Given the description of an element on the screen output the (x, y) to click on. 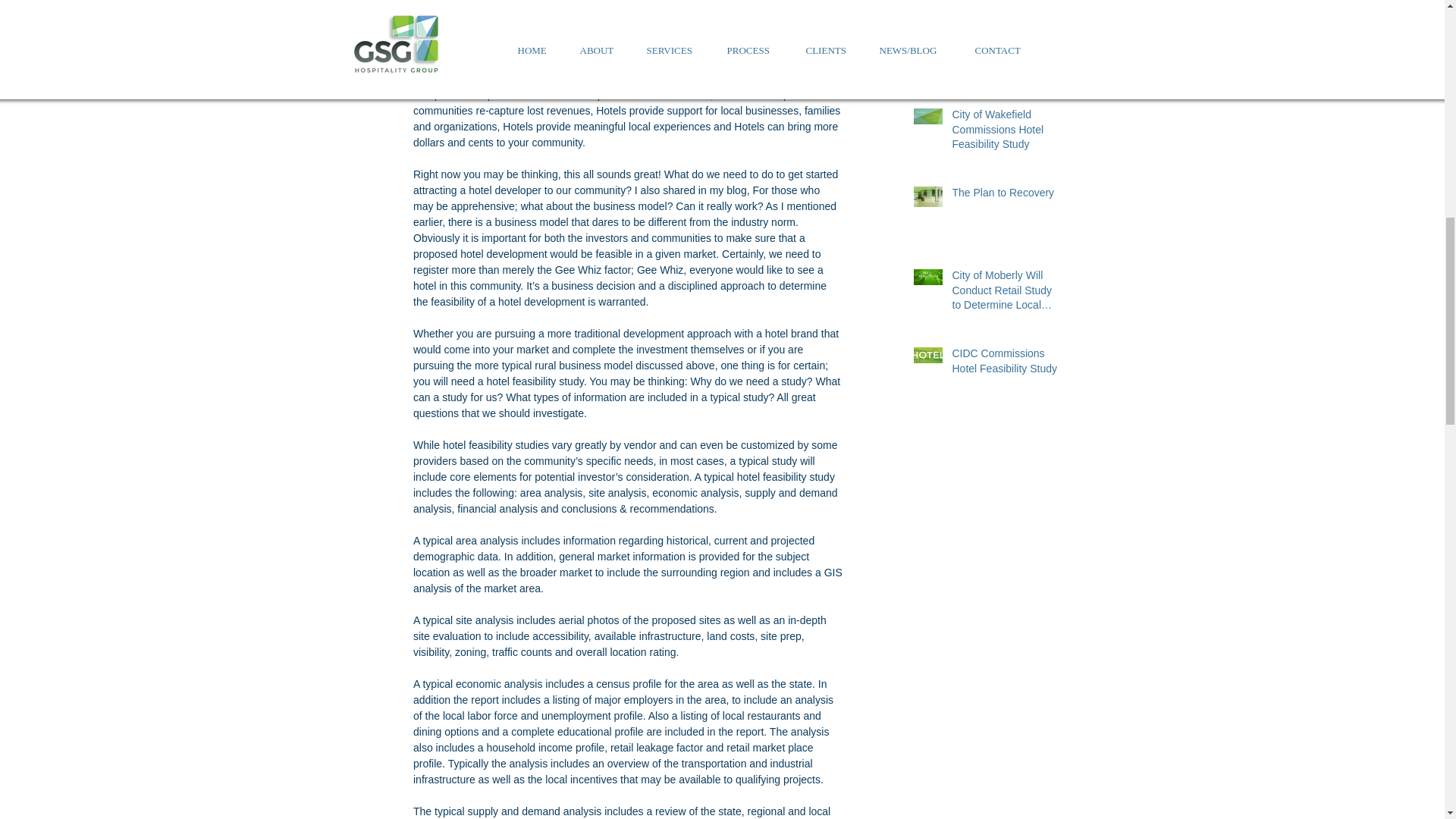
The Plan to Recovery (1006, 196)
Arizona Foundation Commissions Hotel Feasibility Study (1006, 54)
City of Seymour, TX Commissions Hotel Feasibility Study (1006, 1)
City of Wakefield Commissions Hotel Feasibility Study (1006, 132)
CIDC Commissions Hotel Feasibility Study (1006, 364)
